Given the description of an element on the screen output the (x, y) to click on. 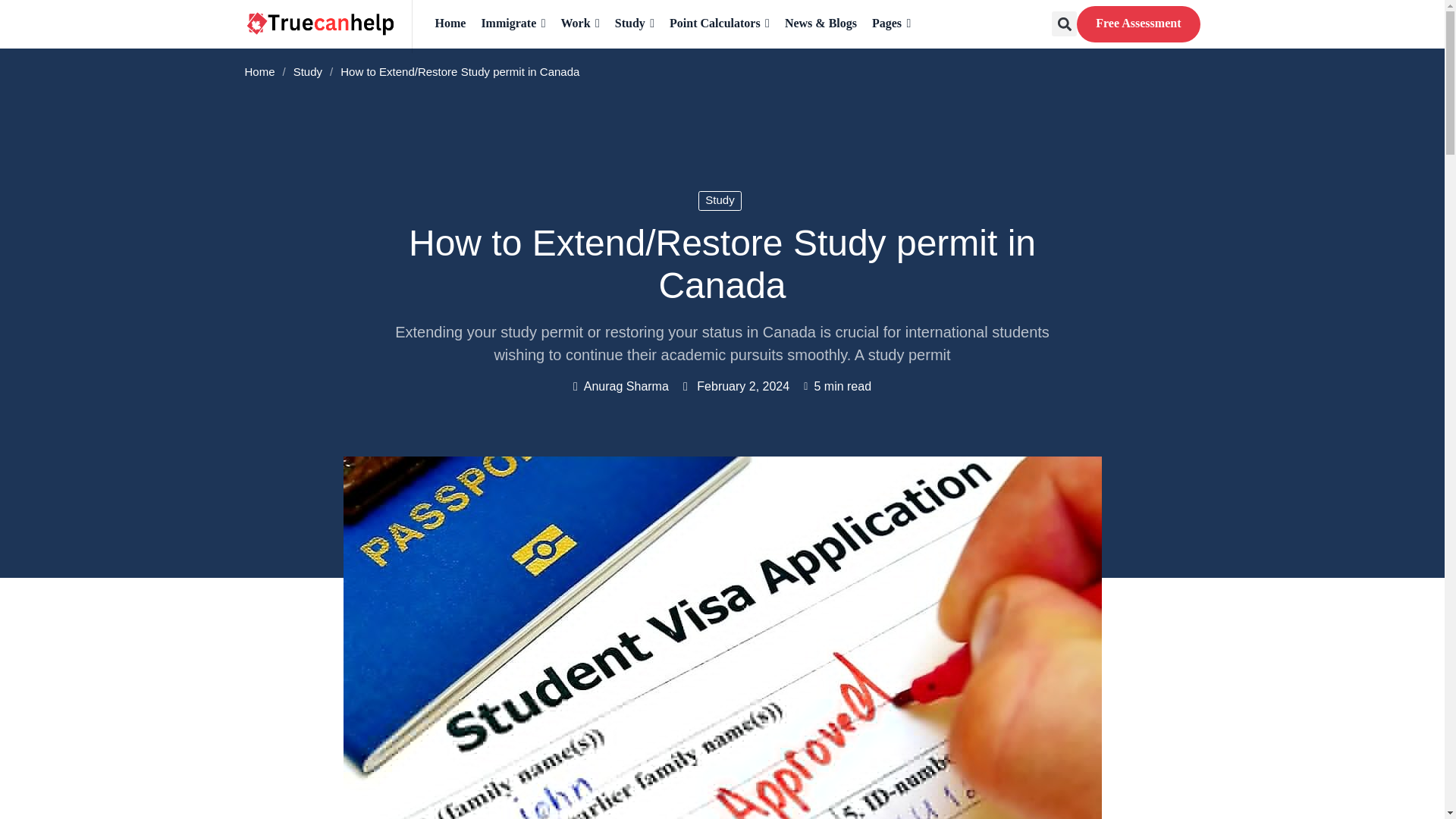
Home (451, 23)
Immigrate (513, 23)
